Given the description of an element on the screen output the (x, y) to click on. 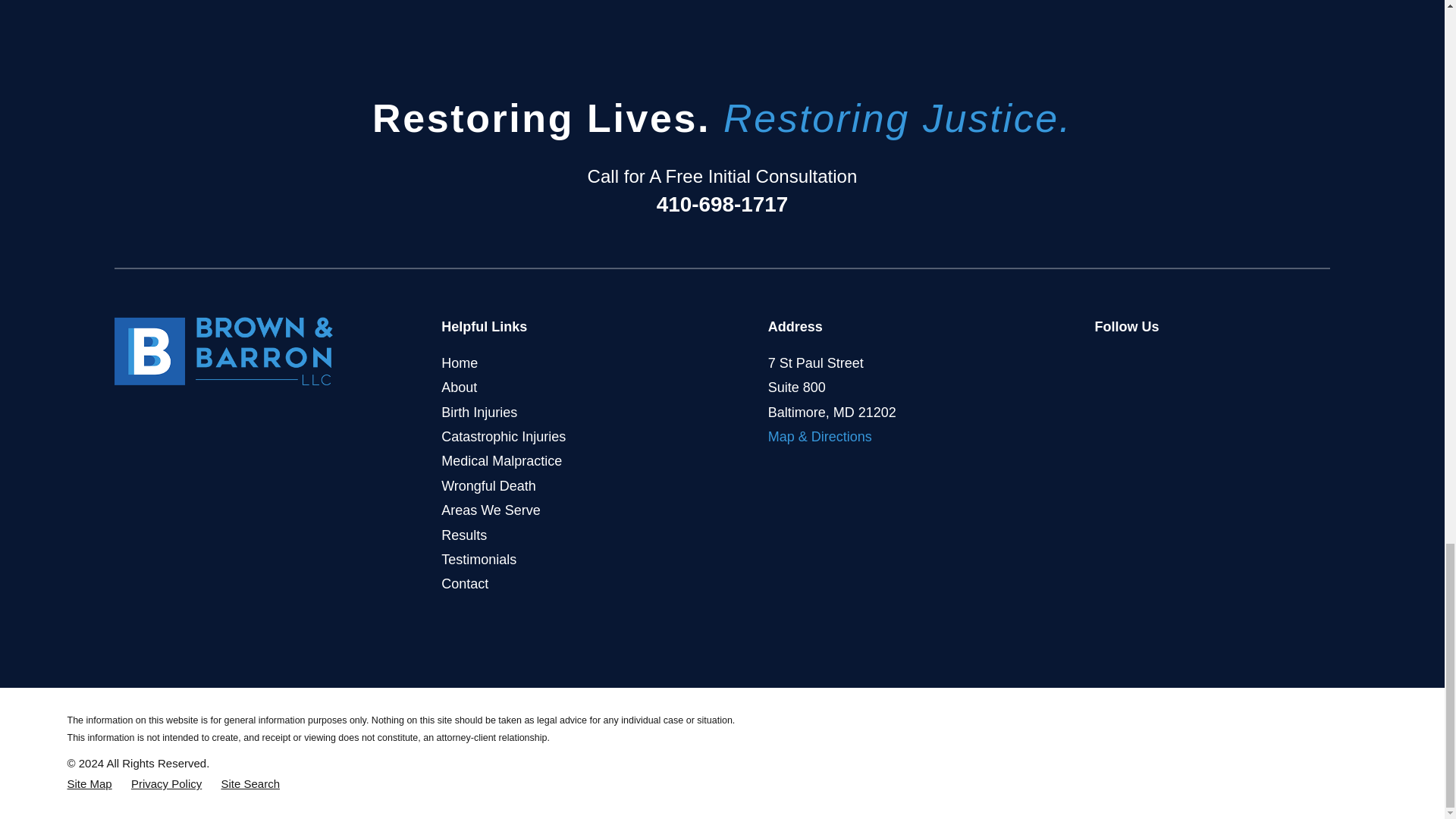
Facebook (1103, 360)
Home (224, 350)
YouTube (1172, 360)
Twitter (1138, 360)
